Given the description of an element on the screen output the (x, y) to click on. 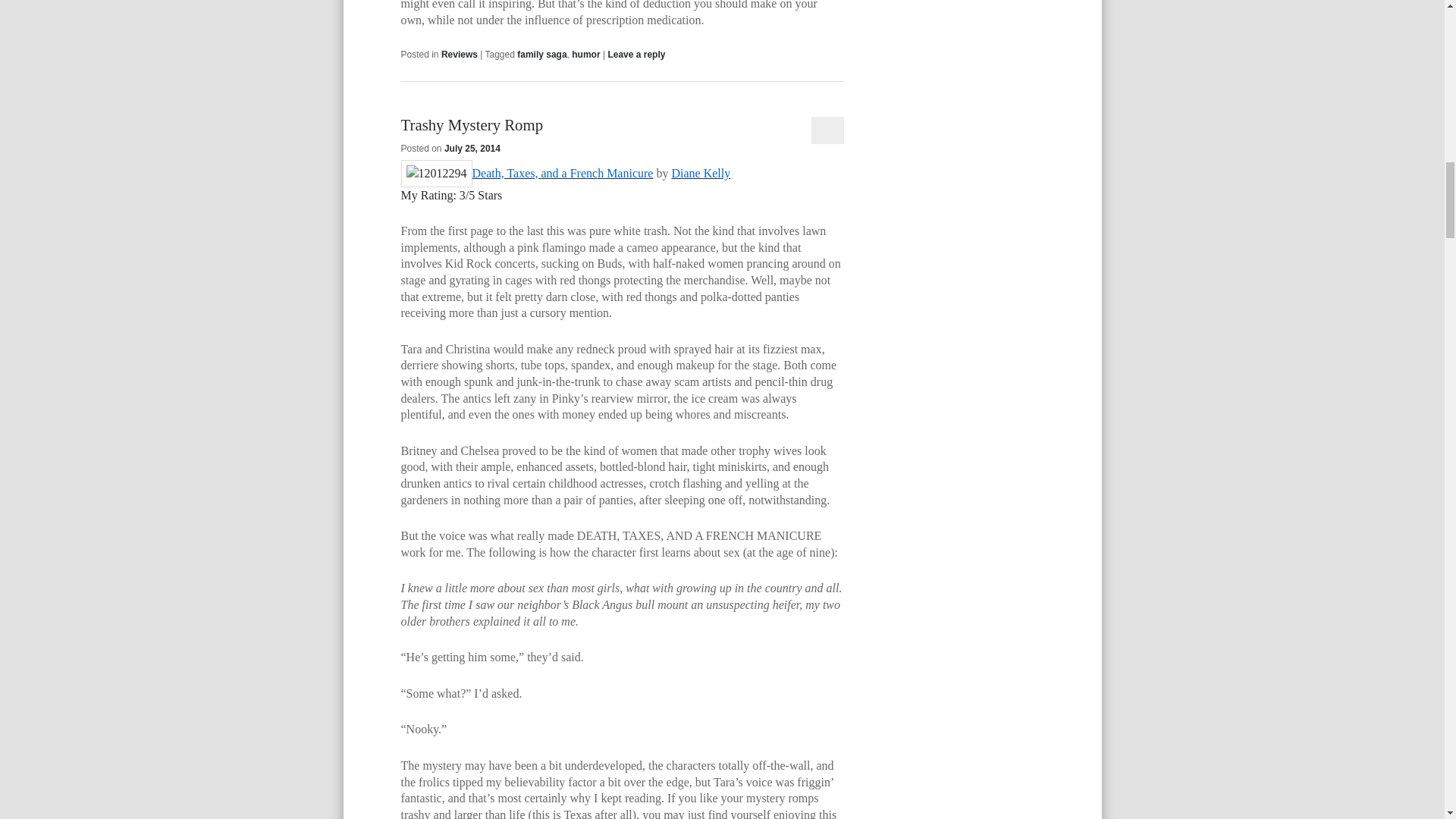
11:28 pm (472, 148)
